Given the description of an element on the screen output the (x, y) to click on. 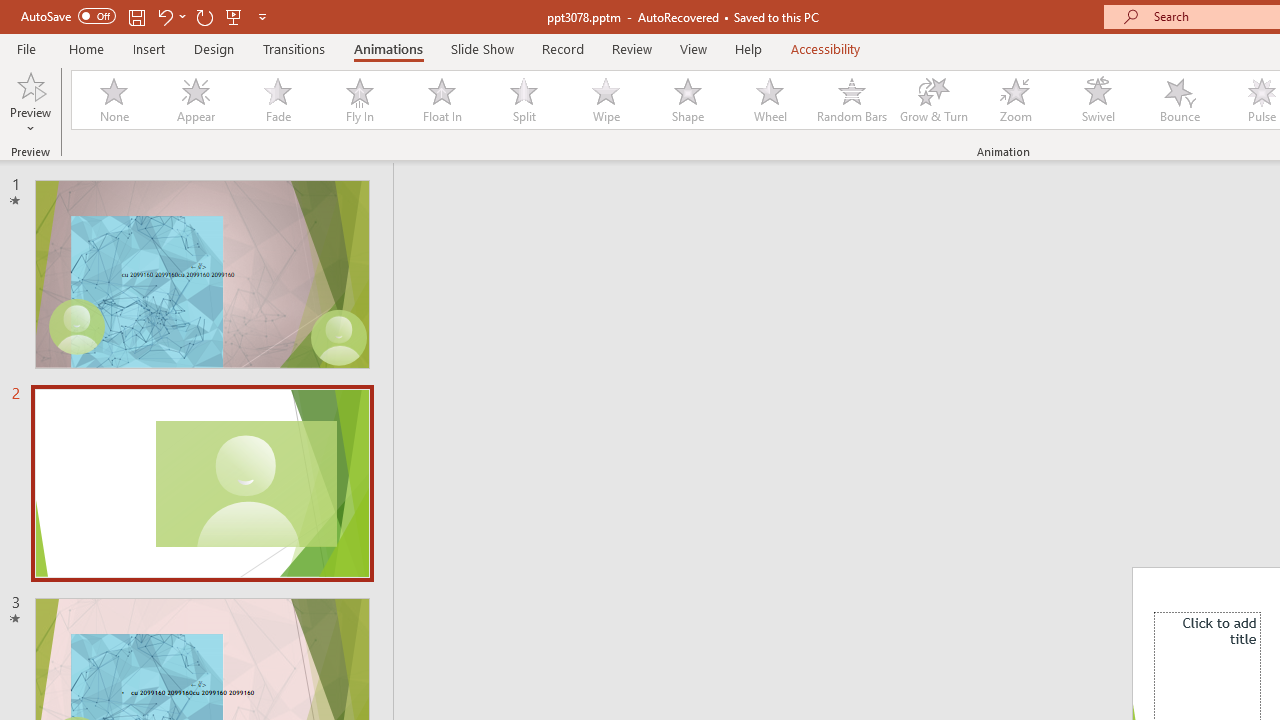
Swivel (1098, 100)
Fly In (359, 100)
Shape (687, 100)
None (113, 100)
Float In (441, 100)
Appear (195, 100)
